Given the description of an element on the screen output the (x, y) to click on. 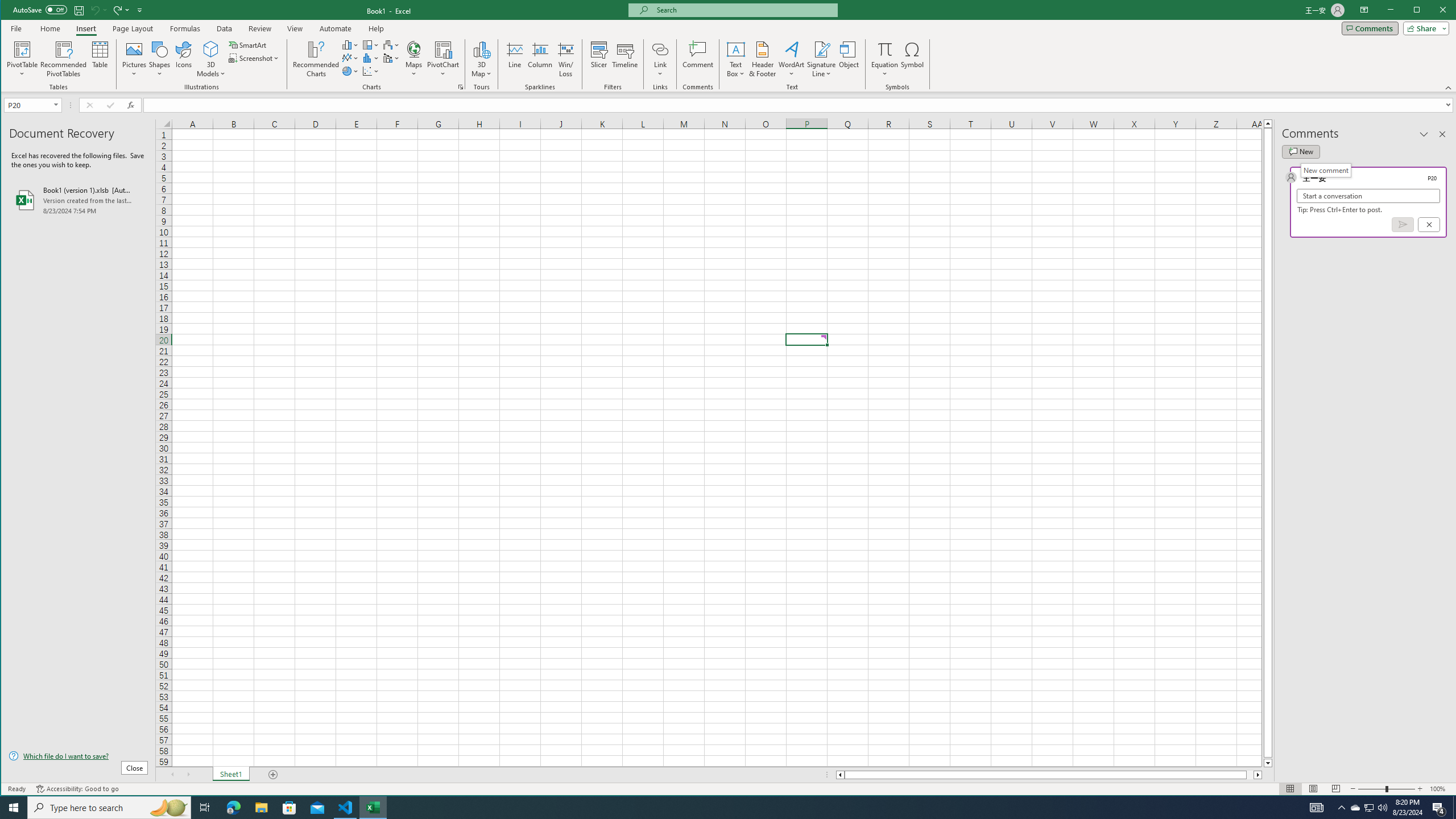
Search highlights icon opens search home window (167, 807)
PivotTable (22, 59)
Show desktop (1454, 807)
Column left (839, 774)
Microsoft Edge (233, 807)
Insert Hierarchy Chart (371, 44)
Equation (884, 59)
